Given the description of an element on the screen output the (x, y) to click on. 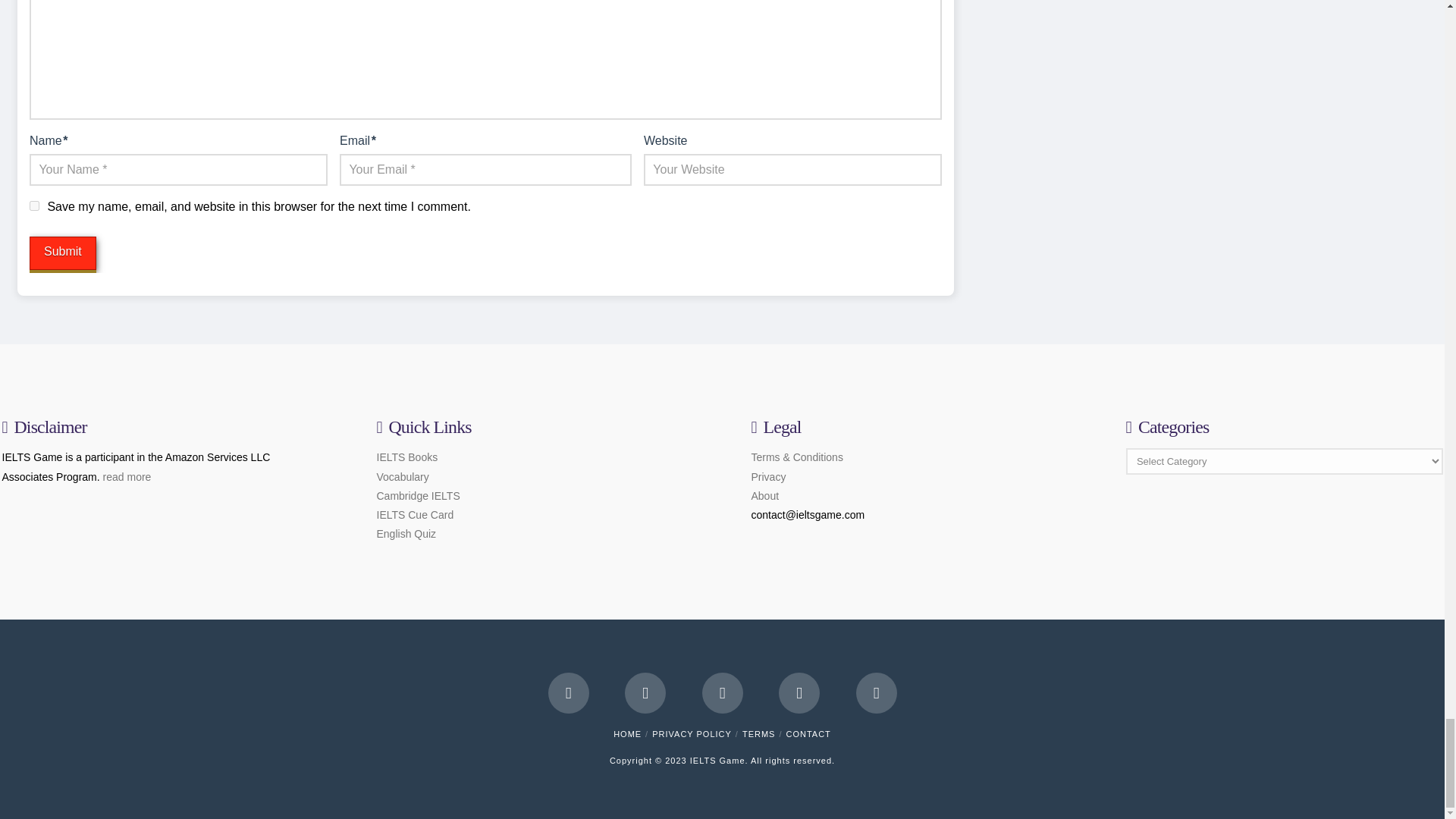
Submit (62, 253)
yes (34, 205)
